Given the description of an element on the screen output the (x, y) to click on. 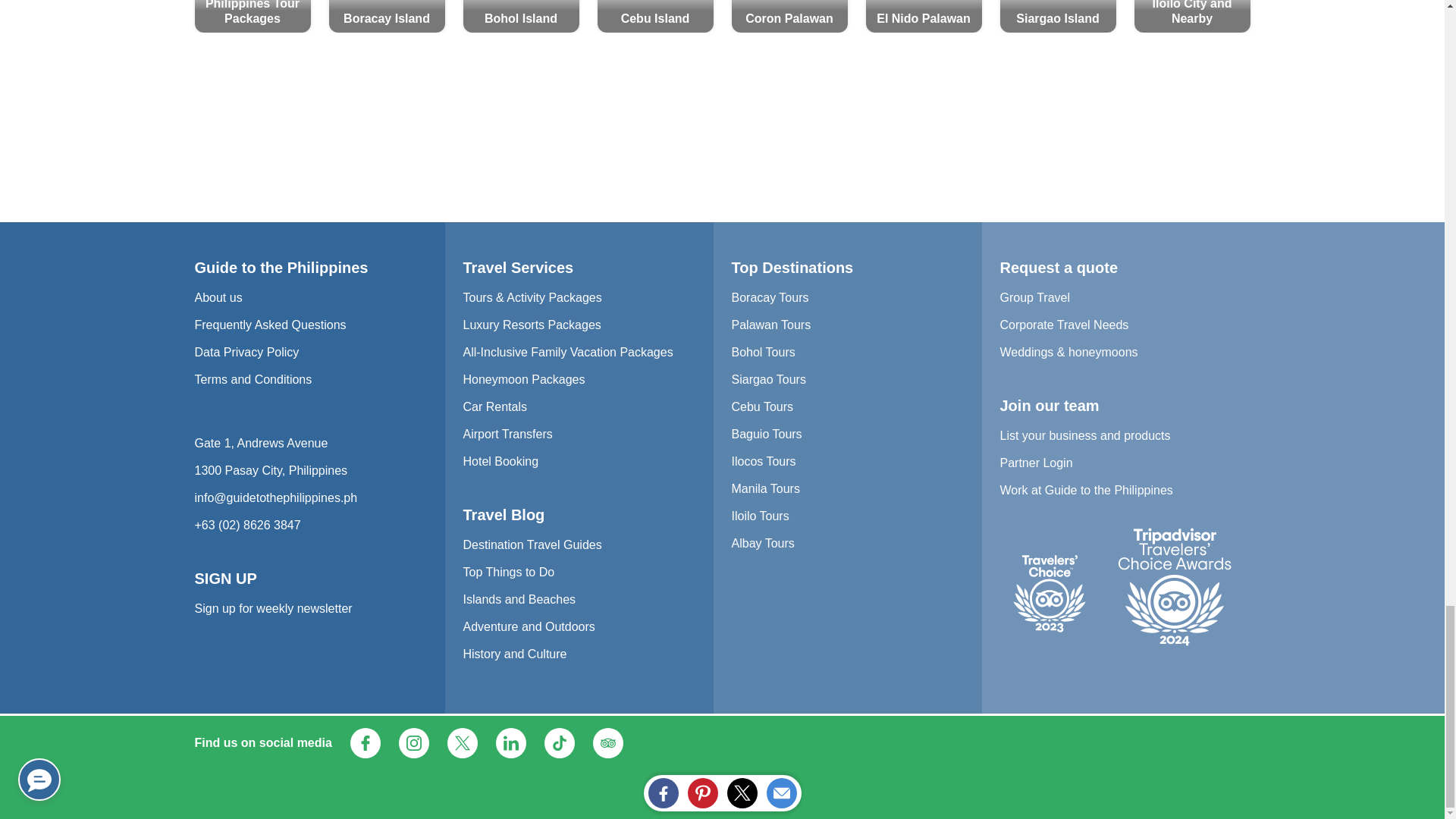
Boracay Island (387, 16)
Siargao Island (1057, 16)
Coron Palawan (789, 16)
Philippines Tour Packages (251, 16)
El Nido Palawan (924, 16)
Bohol Island (520, 16)
Cebu Island (655, 16)
